Given the description of an element on the screen output the (x, y) to click on. 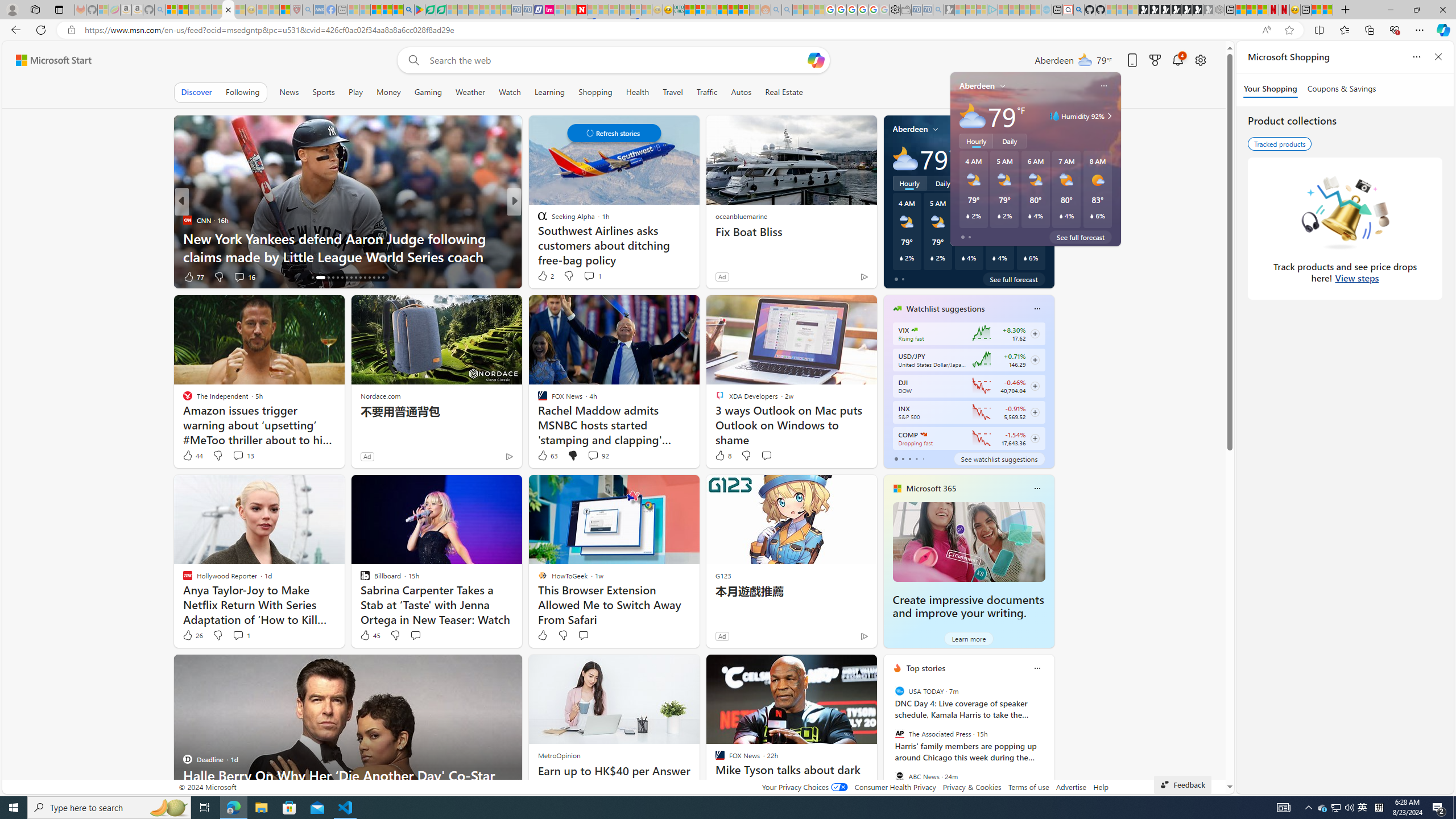
View comments 4 Comment (592, 276)
View comments 13 Comment (243, 455)
View comments 7 Comment (592, 276)
See watchlist suggestions (999, 459)
The Independent (537, 219)
AutomationID: tab-25 (360, 277)
Create impressive documents and improve your writing. (968, 541)
AutomationID: tab-17 (317, 277)
AutomationID: tab-20 (337, 277)
